Given the description of an element on the screen output the (x, y) to click on. 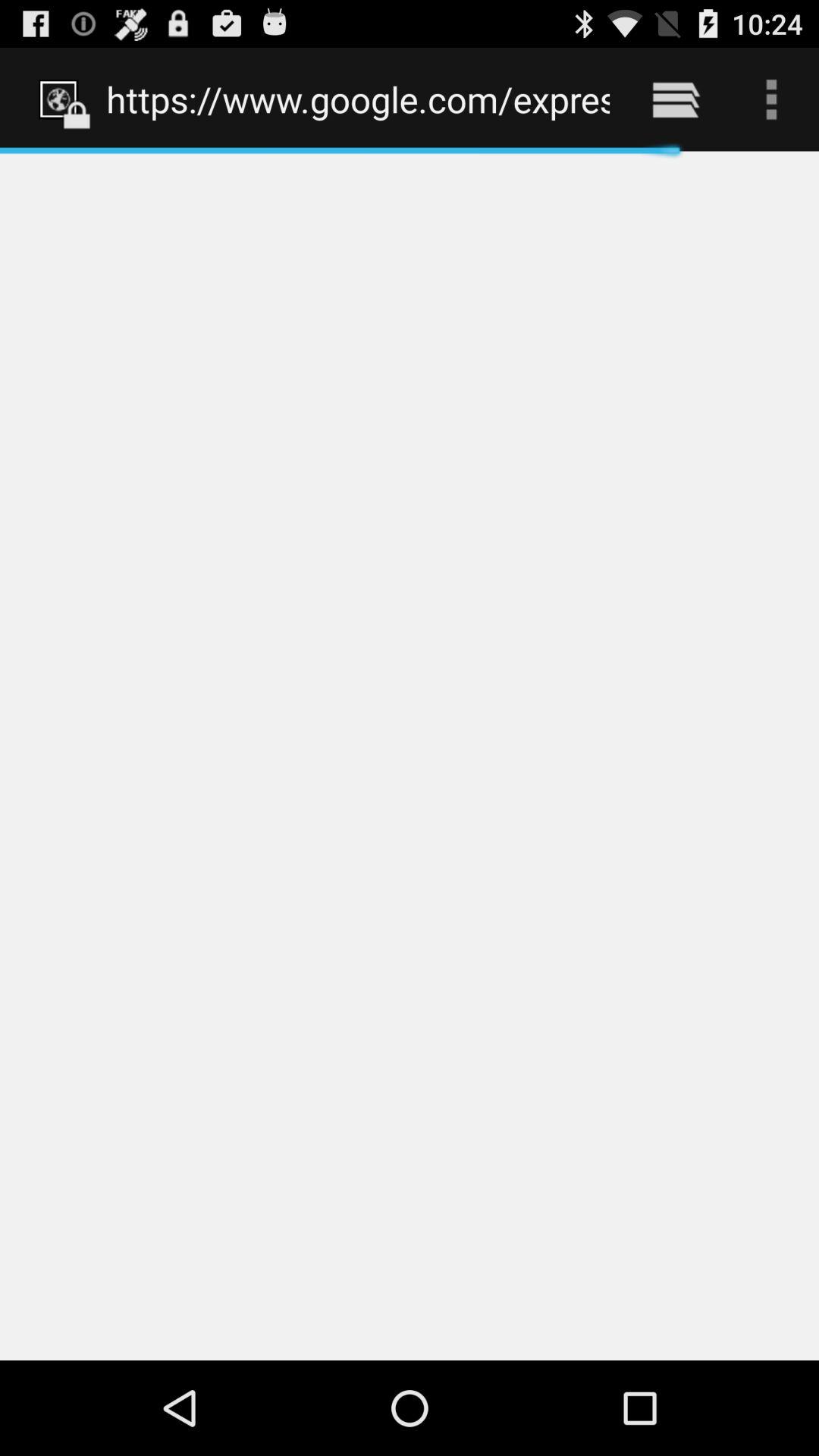
scroll to the https www google (357, 99)
